Given the description of an element on the screen output the (x, y) to click on. 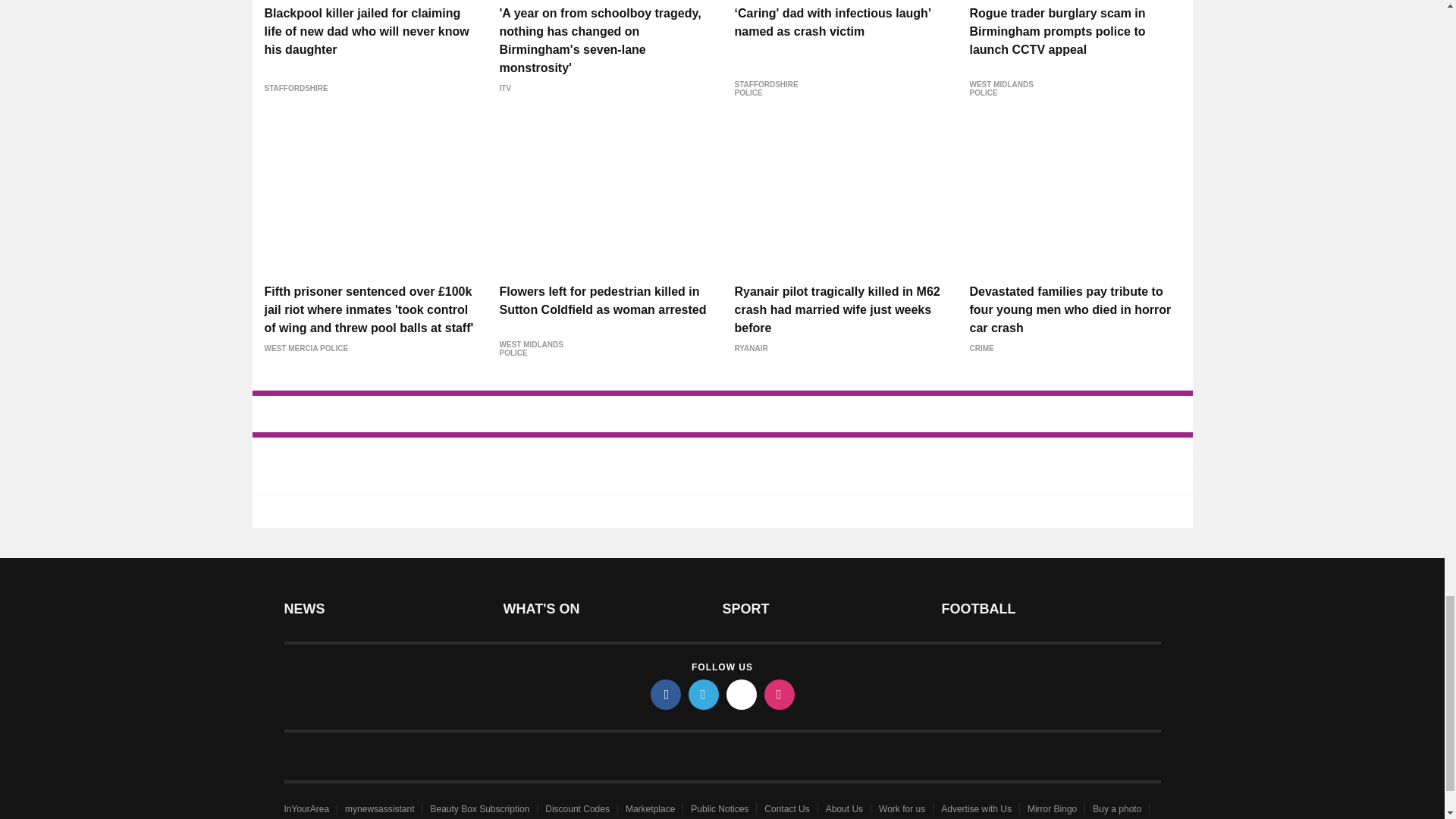
tiktok (741, 694)
twitter (703, 694)
instagram (779, 694)
facebook (665, 694)
